Given the description of an element on the screen output the (x, y) to click on. 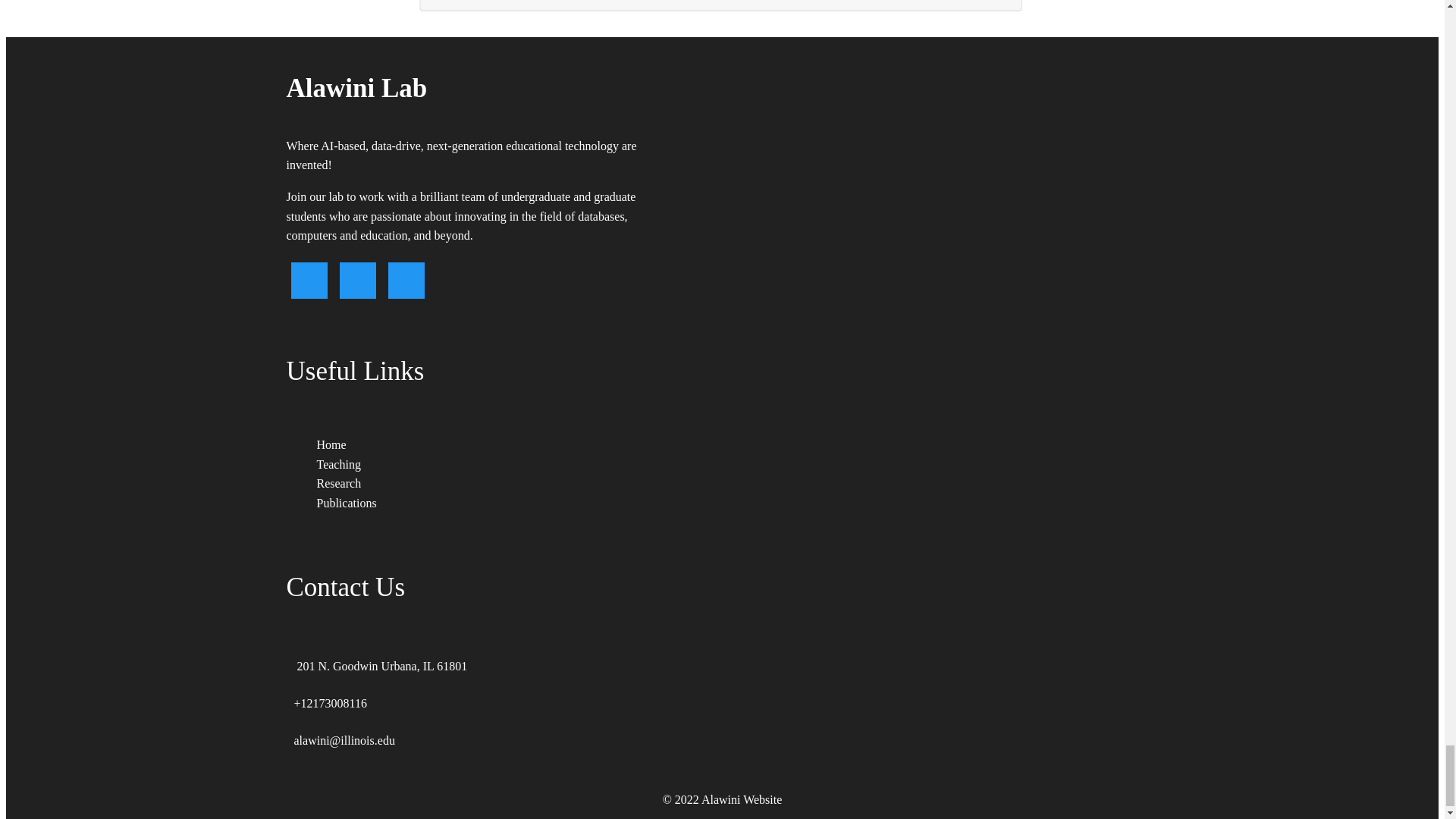
Home (331, 444)
Teaching (339, 463)
Research (339, 482)
Alawini Lab (478, 88)
Publications (347, 502)
